Given the description of an element on the screen output the (x, y) to click on. 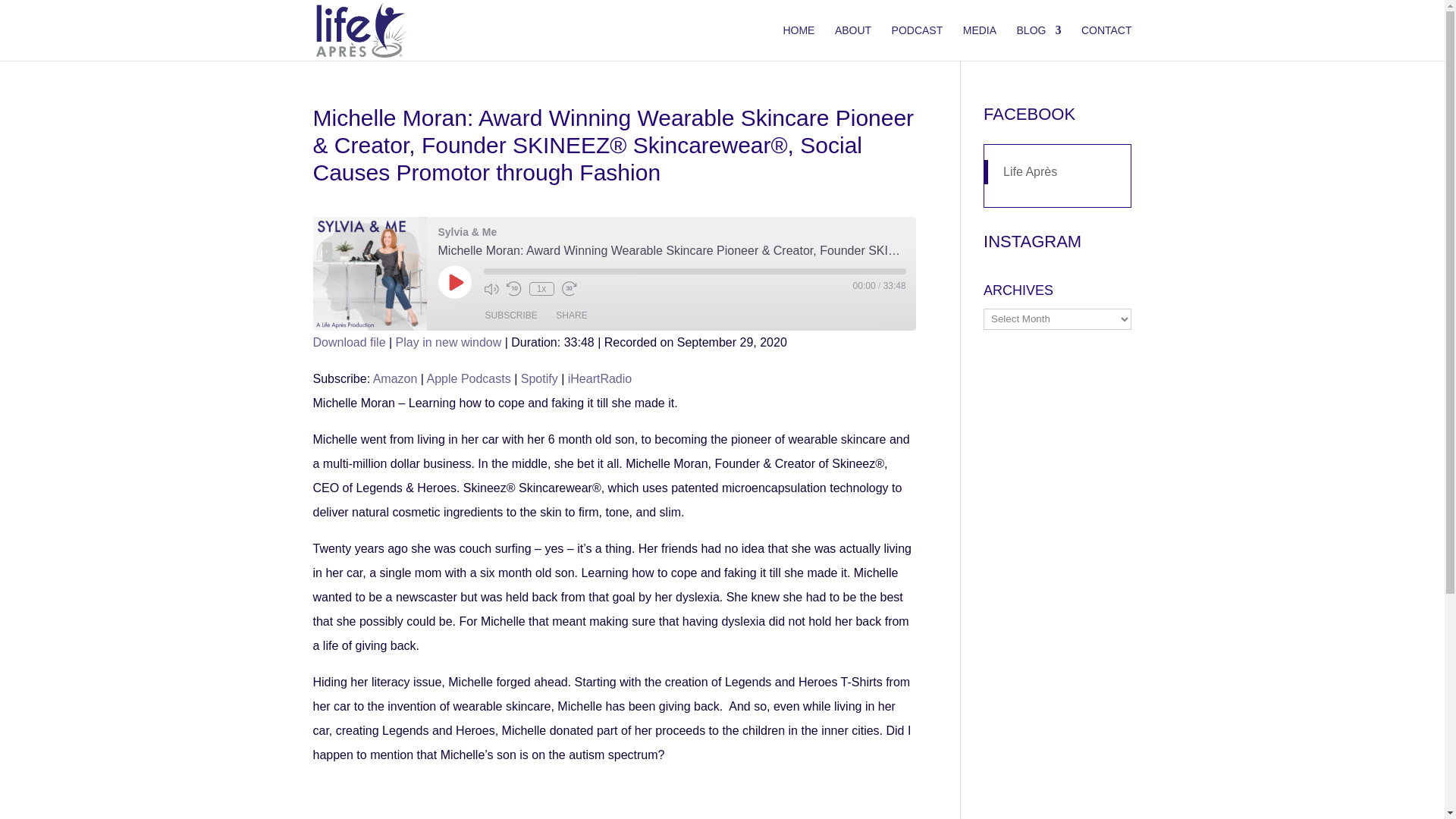
Rewind 10 seconds (513, 288)
PODCAST (917, 42)
Play (454, 281)
Share (571, 314)
Play in new window (449, 341)
Subscribe (510, 314)
Fast Forward 30 seconds (568, 288)
Amazon (394, 378)
BLOG (1038, 42)
SHARE (571, 314)
